Given the description of an element on the screen output the (x, y) to click on. 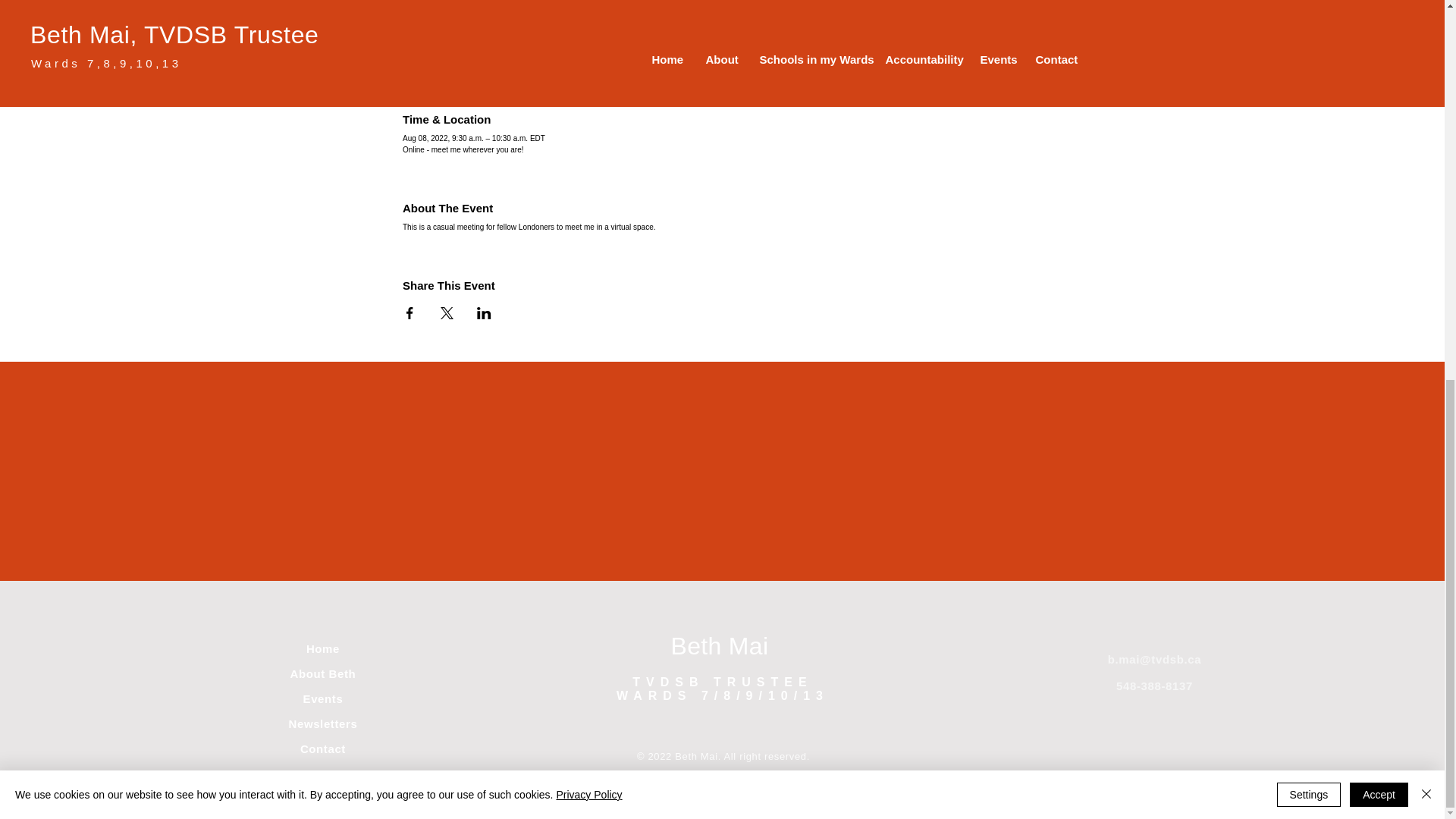
Accept (1378, 87)
Home (322, 648)
Events (322, 698)
Settings (1308, 87)
Contact (322, 748)
About Beth (322, 673)
Privacy Policy (588, 87)
